Given the description of an element on the screen output the (x, y) to click on. 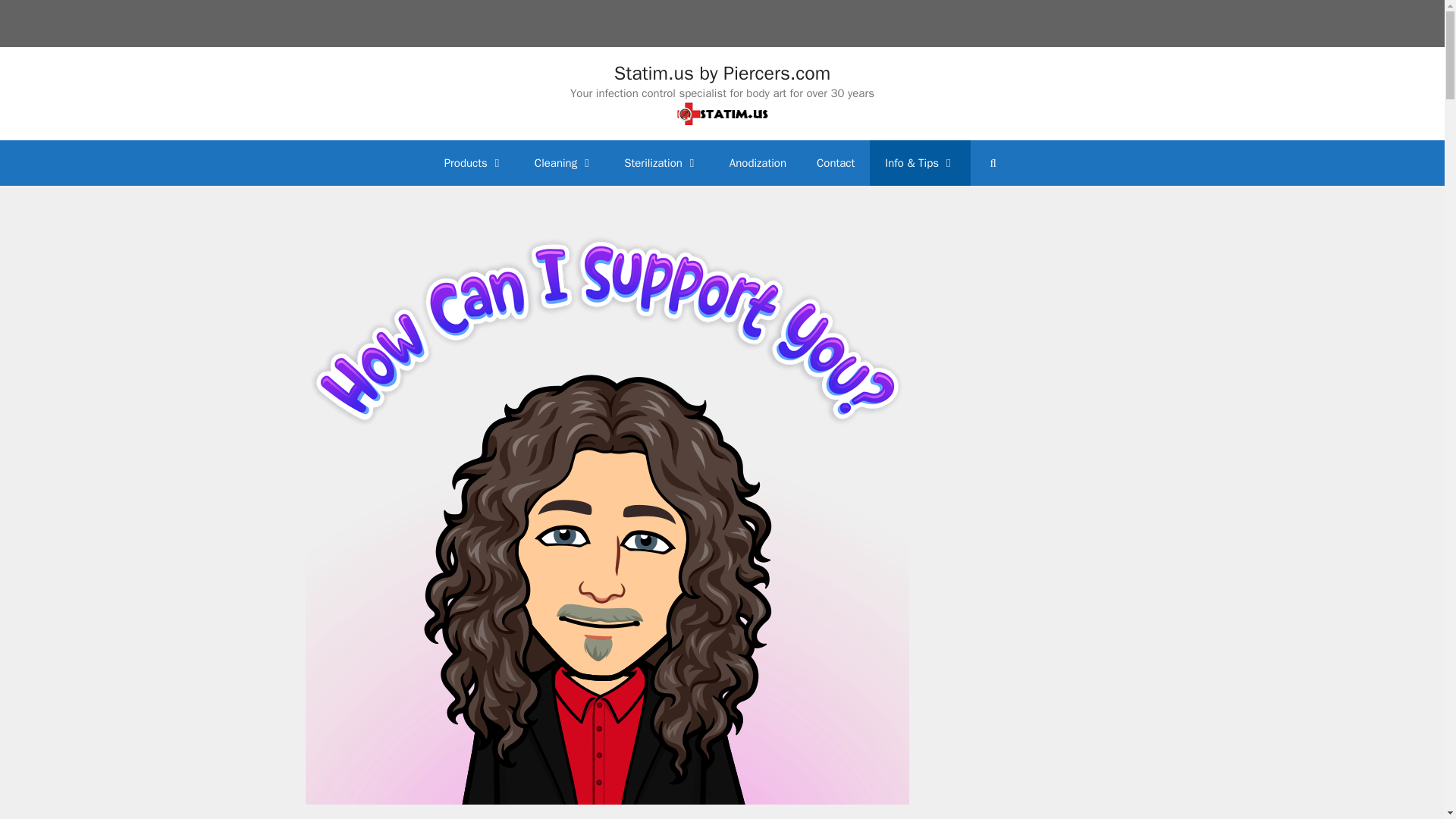
Anodization (758, 162)
Products (474, 162)
Contact (835, 162)
Sterilization (661, 162)
Cleaning (563, 162)
Statim.us by Piercers.com (722, 73)
